Given the description of an element on the screen output the (x, y) to click on. 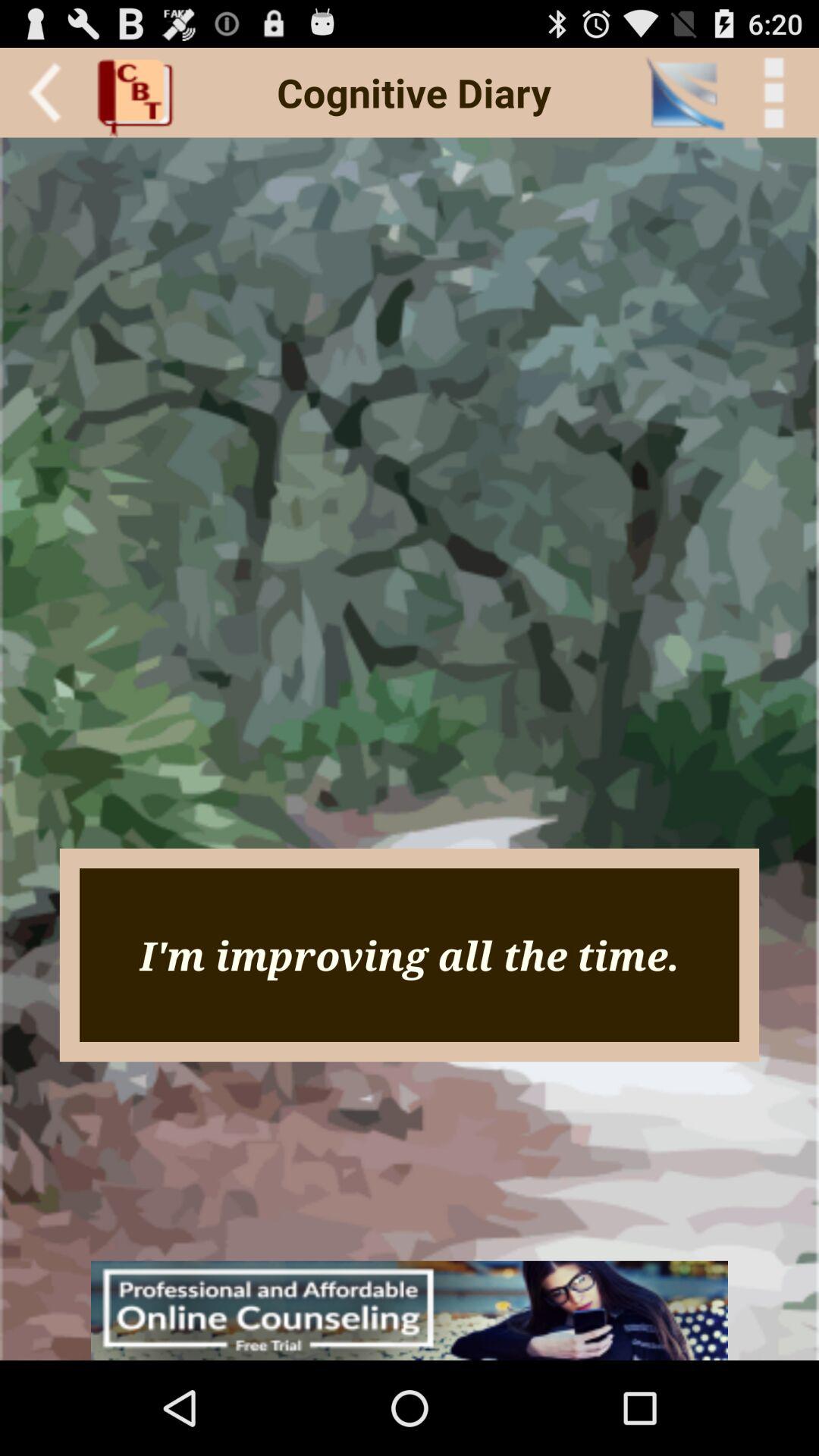
choose the item to the left of the cognitive diary icon (139, 92)
